Given the description of an element on the screen output the (x, y) to click on. 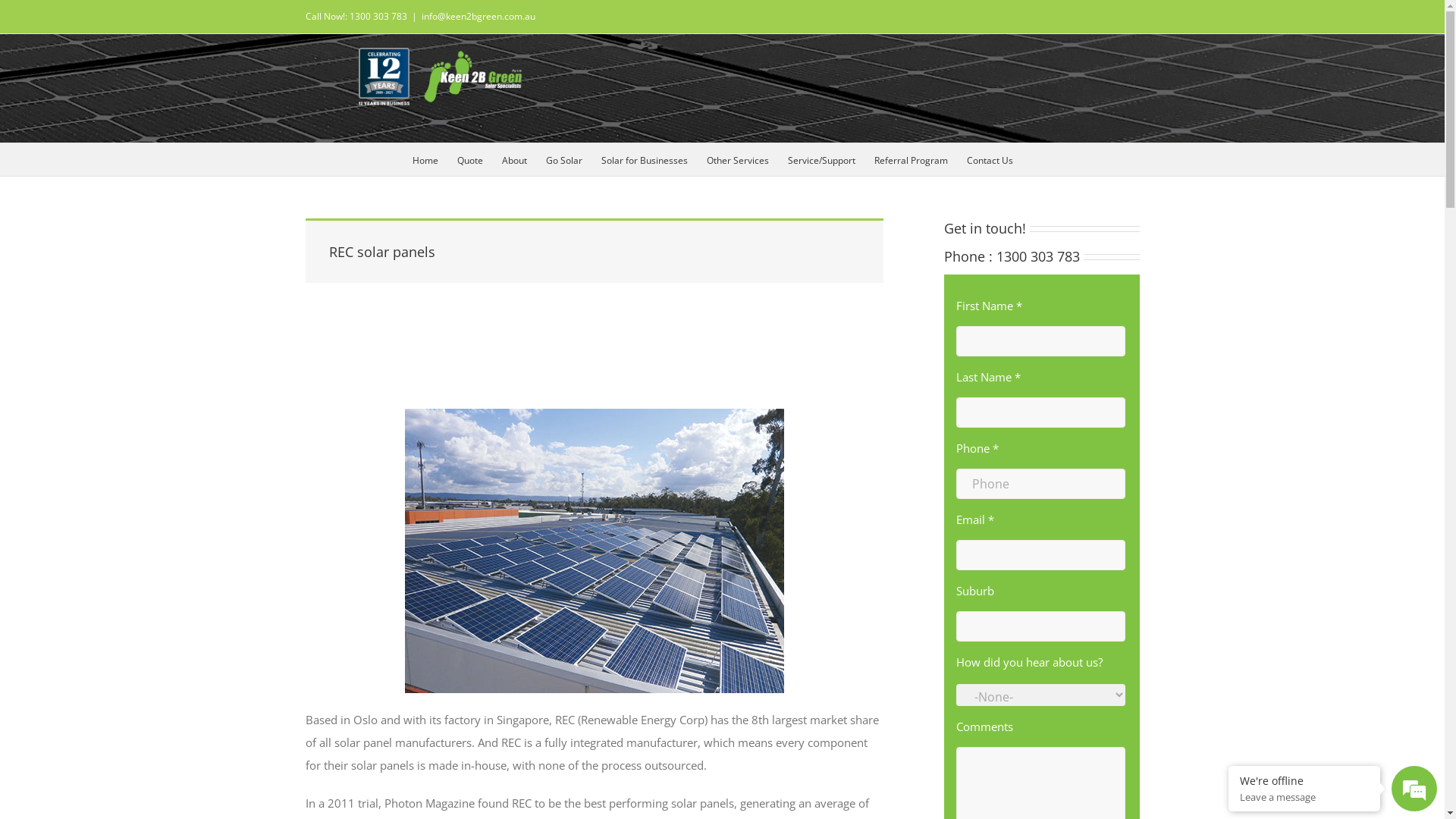
About Element type: text (514, 159)
Solar for Businesses Element type: text (644, 159)
Quote Element type: text (470, 159)
Other Services Element type: text (737, 159)
Go Solar Element type: text (564, 159)
Referral Program Element type: text (910, 159)
info@keen2bgreen.com.au Element type: text (478, 15)
Home Element type: text (425, 159)
Contact Us Element type: text (989, 159)
Service/Support Element type: text (821, 159)
